Given the description of an element on the screen output the (x, y) to click on. 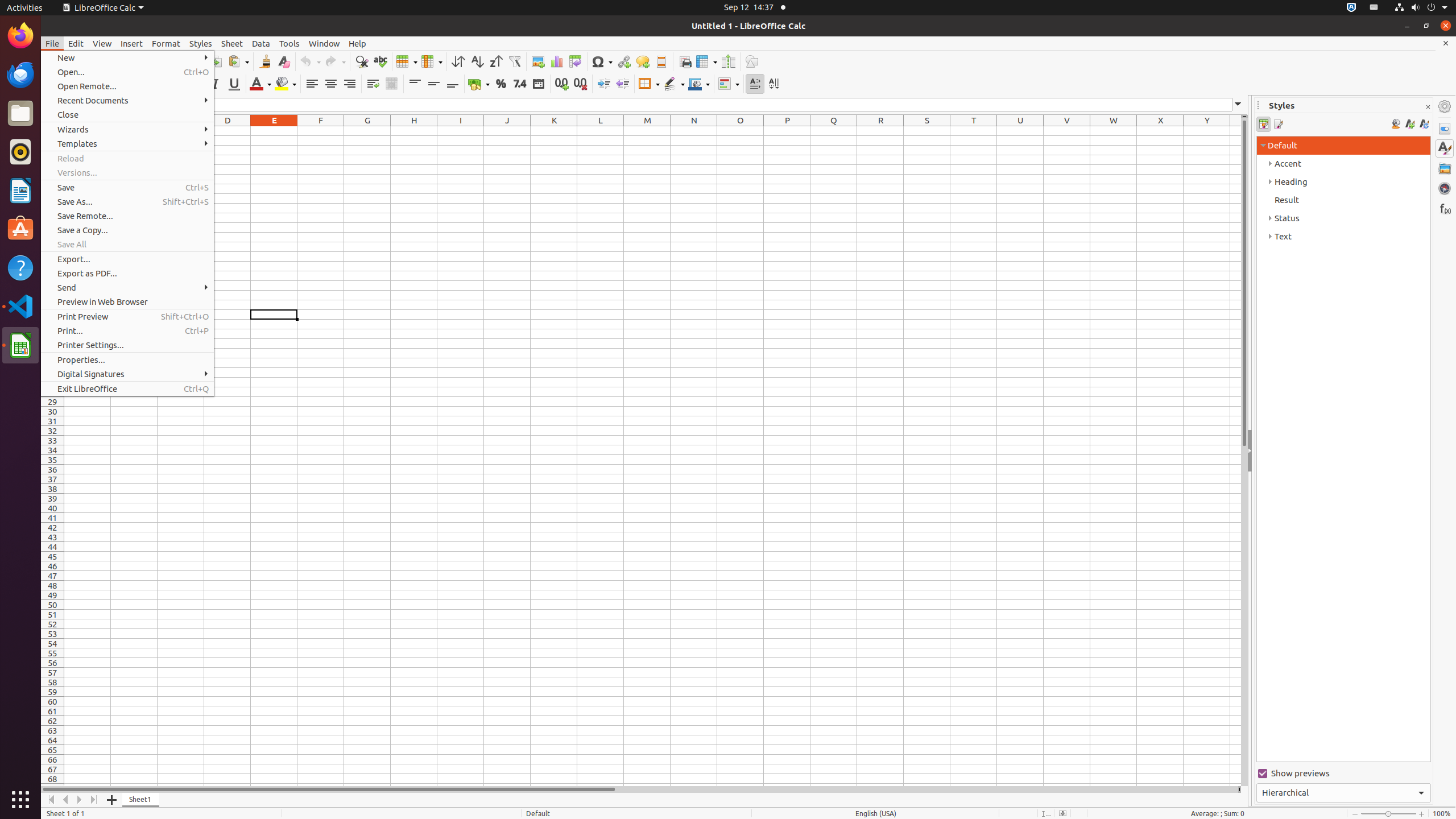
Y1 Element type: table-cell (1206, 130)
Tools Element type: menu (289, 43)
Date Element type: push-button (537, 83)
Underline Element type: push-button (233, 83)
Move To End Element type: push-button (94, 799)
